Given the description of an element on the screen output the (x, y) to click on. 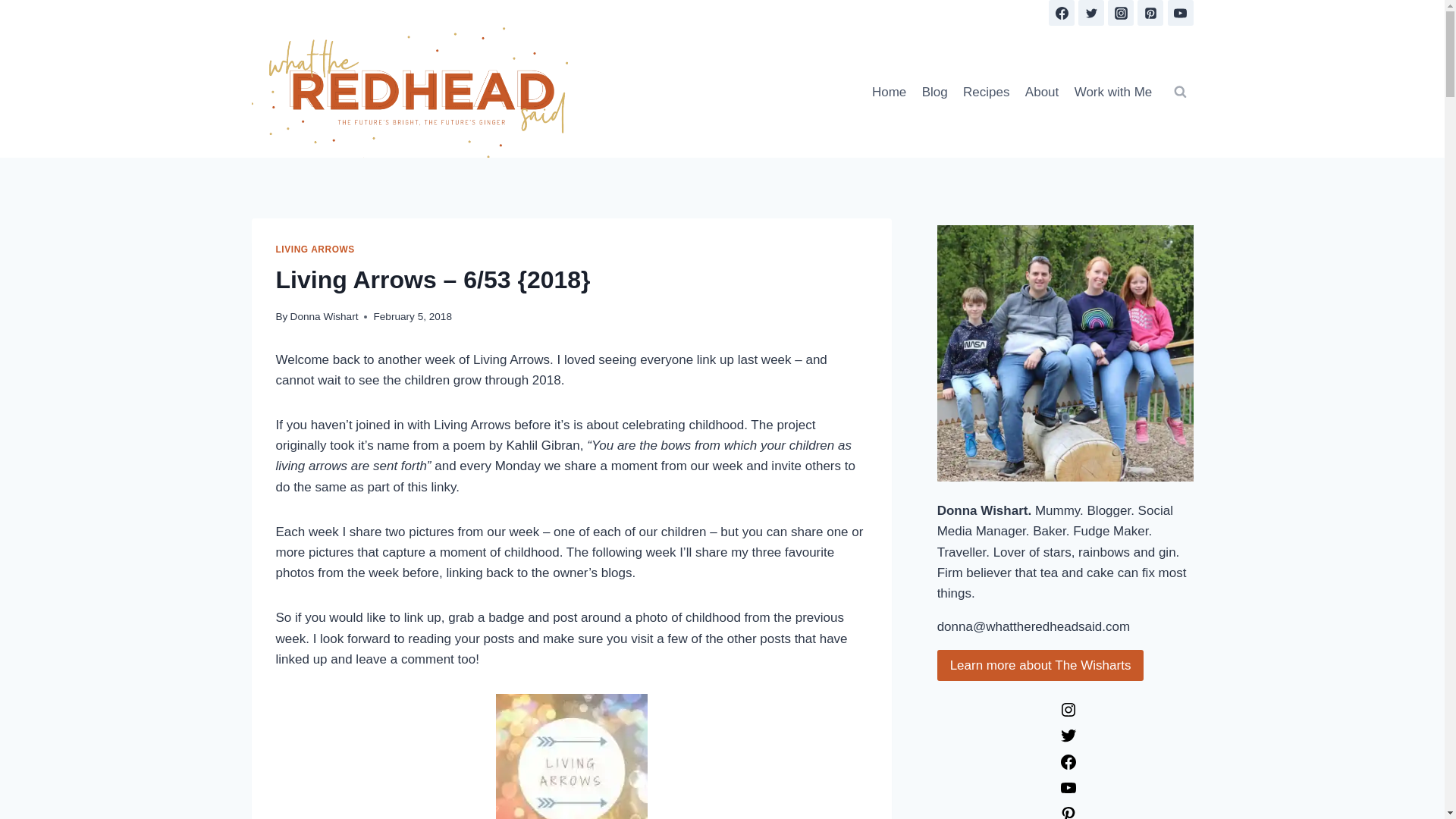
Blog (934, 91)
About (1180, 12)
LIVING ARROWS (1150, 12)
Recipes (1090, 12)
Donna Wishart (1042, 91)
Living Arrows (315, 249)
Recipes (986, 91)
